Given the description of an element on the screen output the (x, y) to click on. 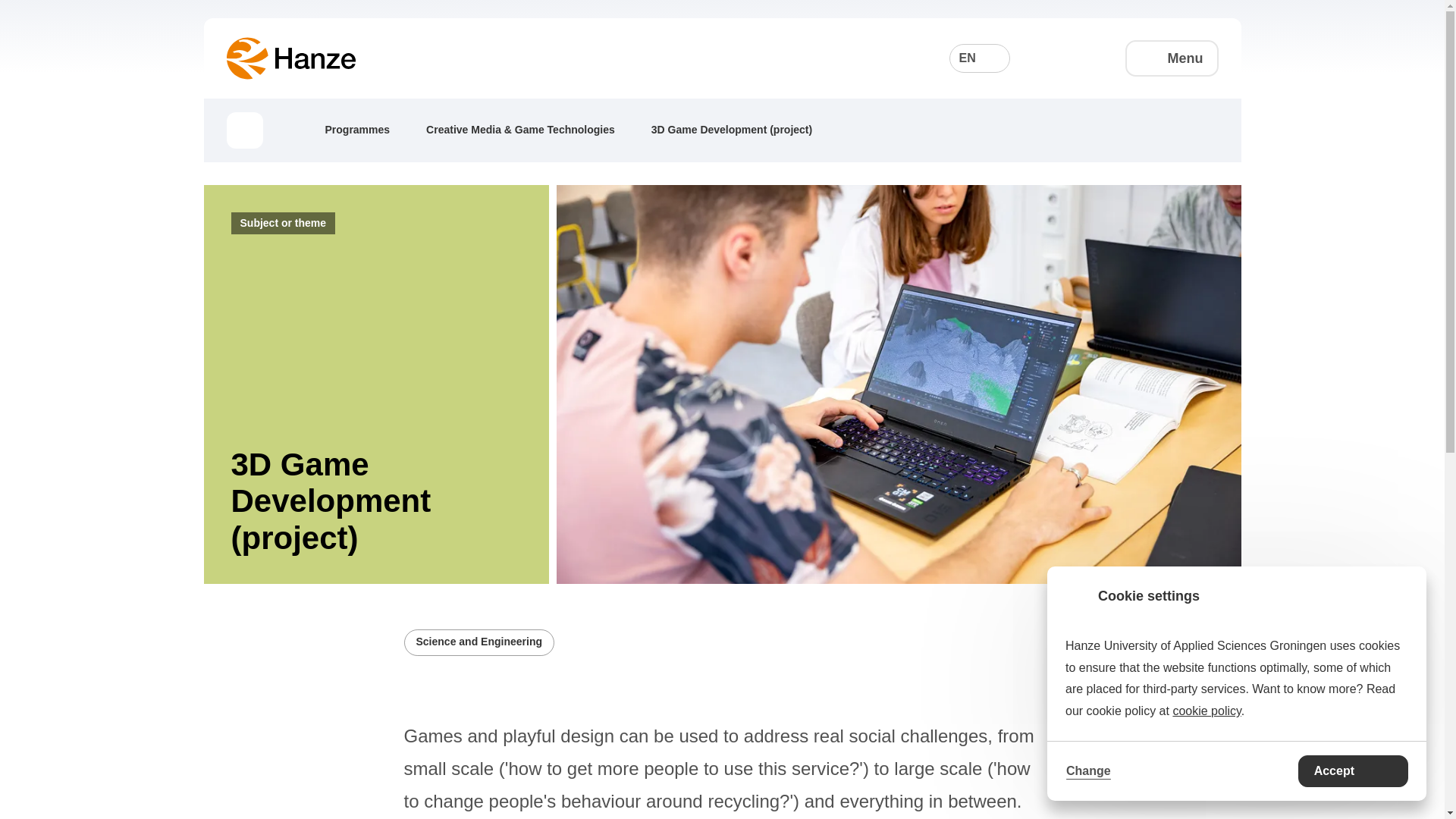
Programmes (368, 129)
My Hanze (1089, 57)
Menu (1171, 58)
EN (979, 58)
